Given the description of an element on the screen output the (x, y) to click on. 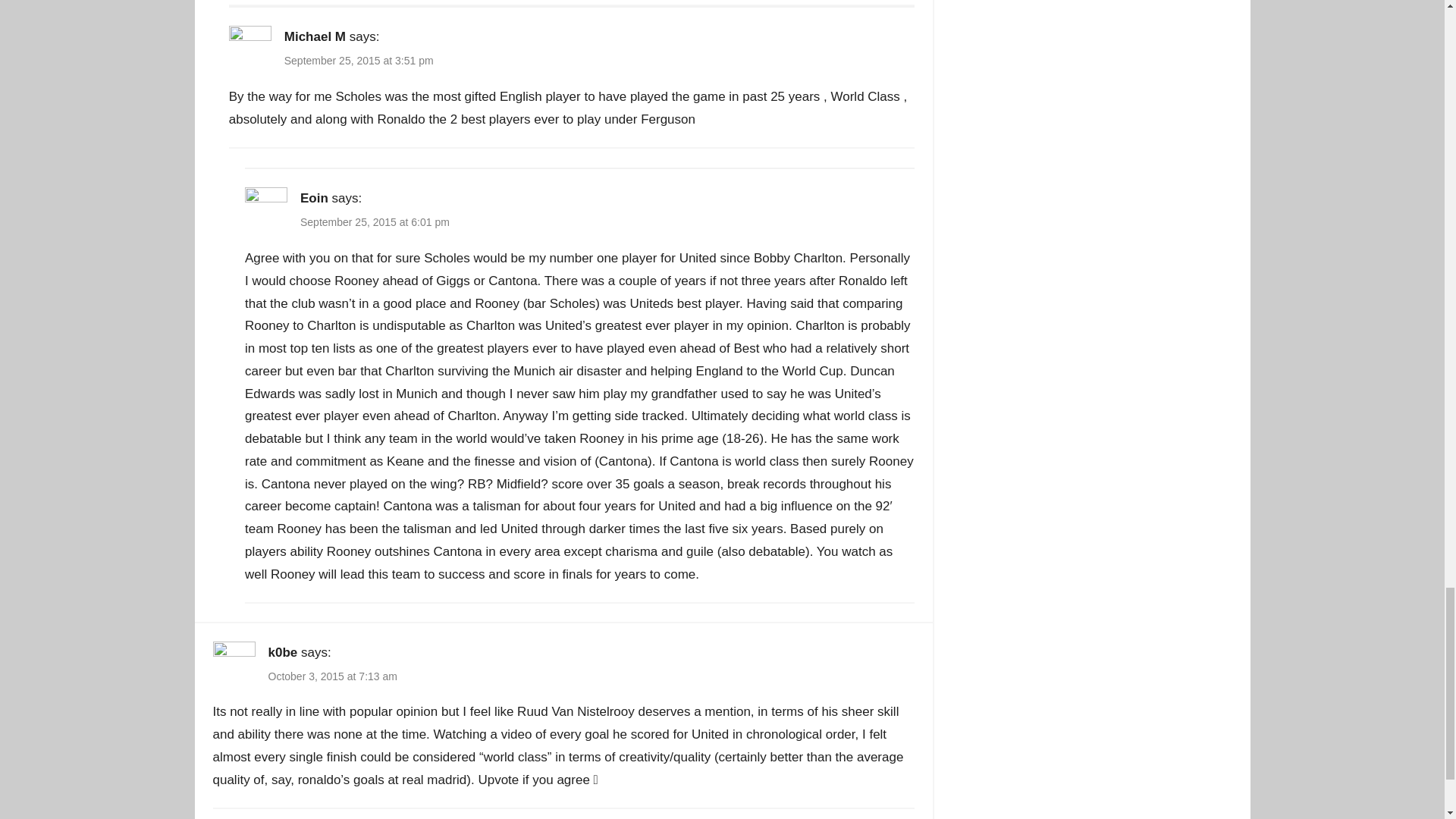
September 25, 2015 at 6:01 pm (374, 222)
October 3, 2015 at 7:13 am (332, 676)
September 25, 2015 at 3:51 pm (358, 60)
